Given the description of an element on the screen output the (x, y) to click on. 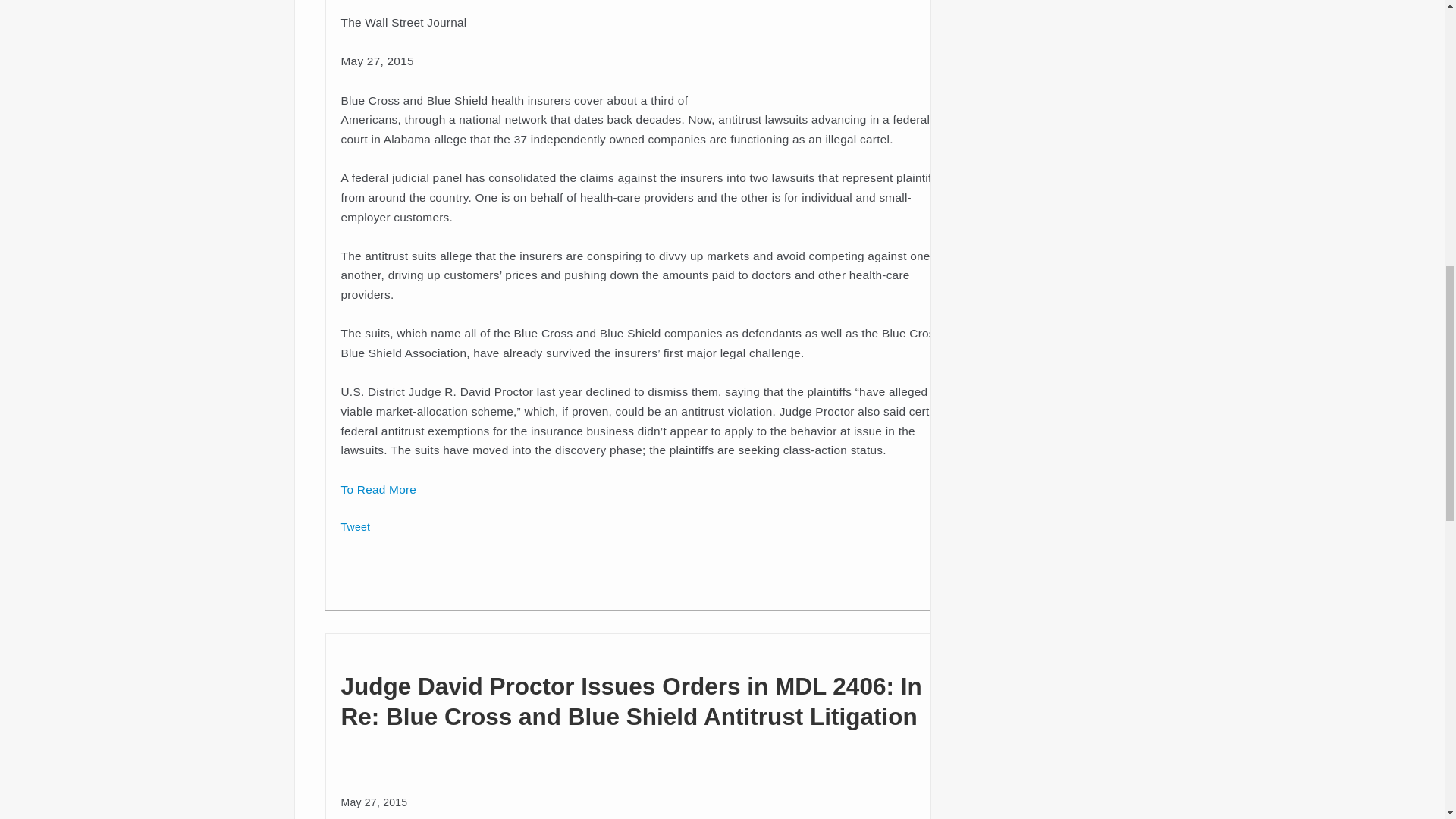
Tweet (355, 526)
To Read More (378, 489)
